Given the description of an element on the screen output the (x, y) to click on. 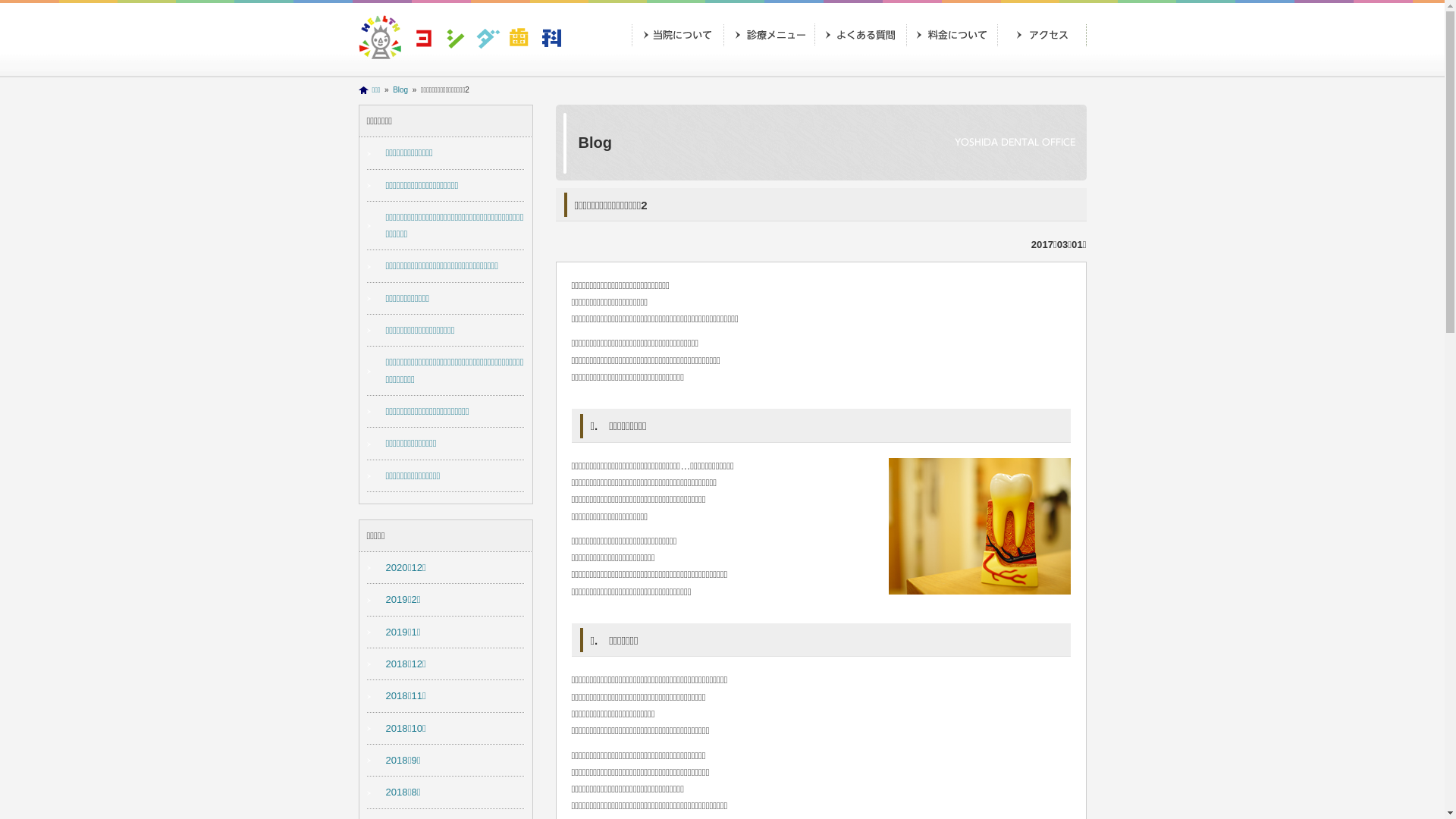
Blog Element type: text (399, 89)
